Given the description of an element on the screen output the (x, y) to click on. 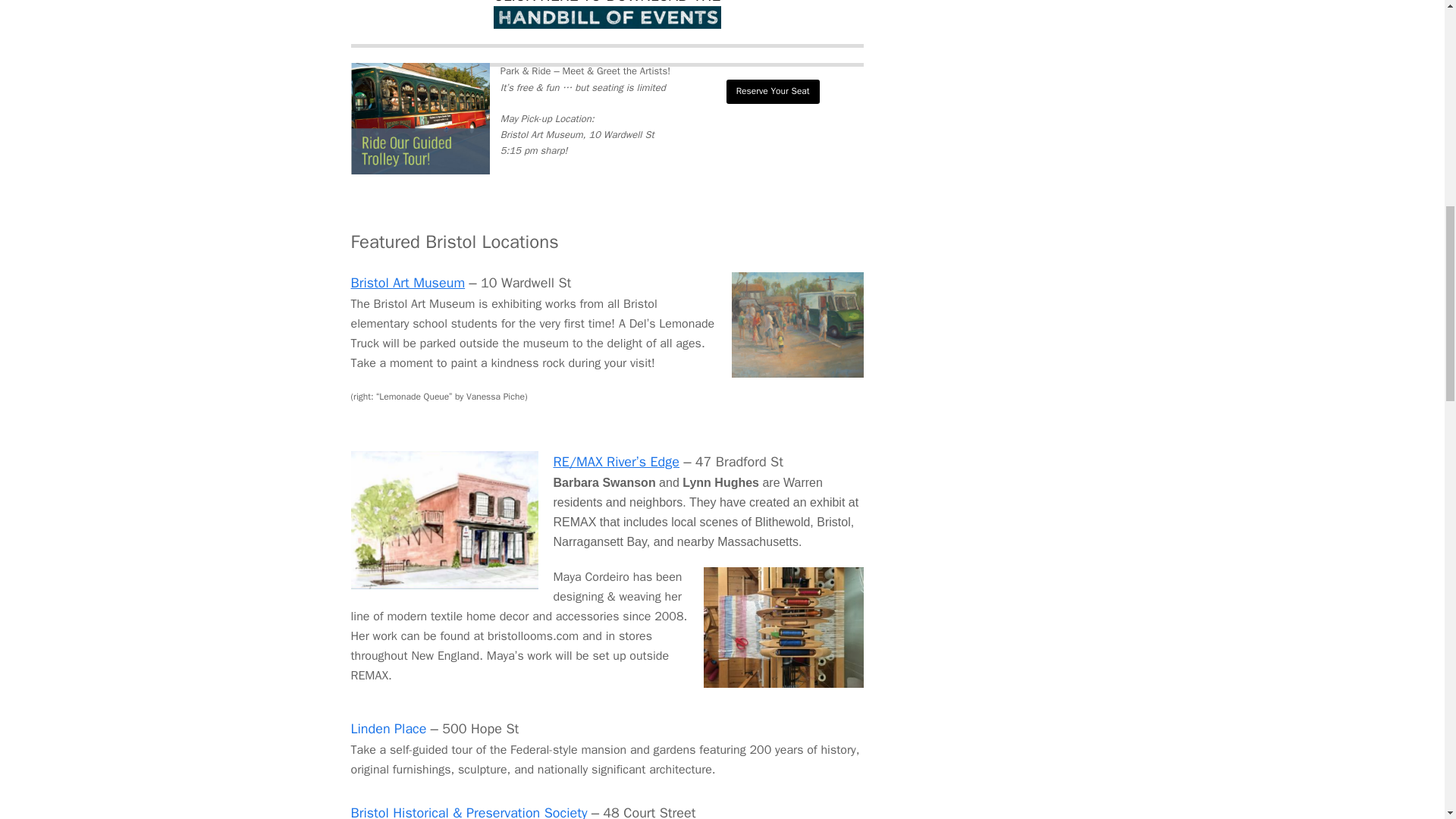
Visit Site (772, 91)
